Given the description of an element on the screen output the (x, y) to click on. 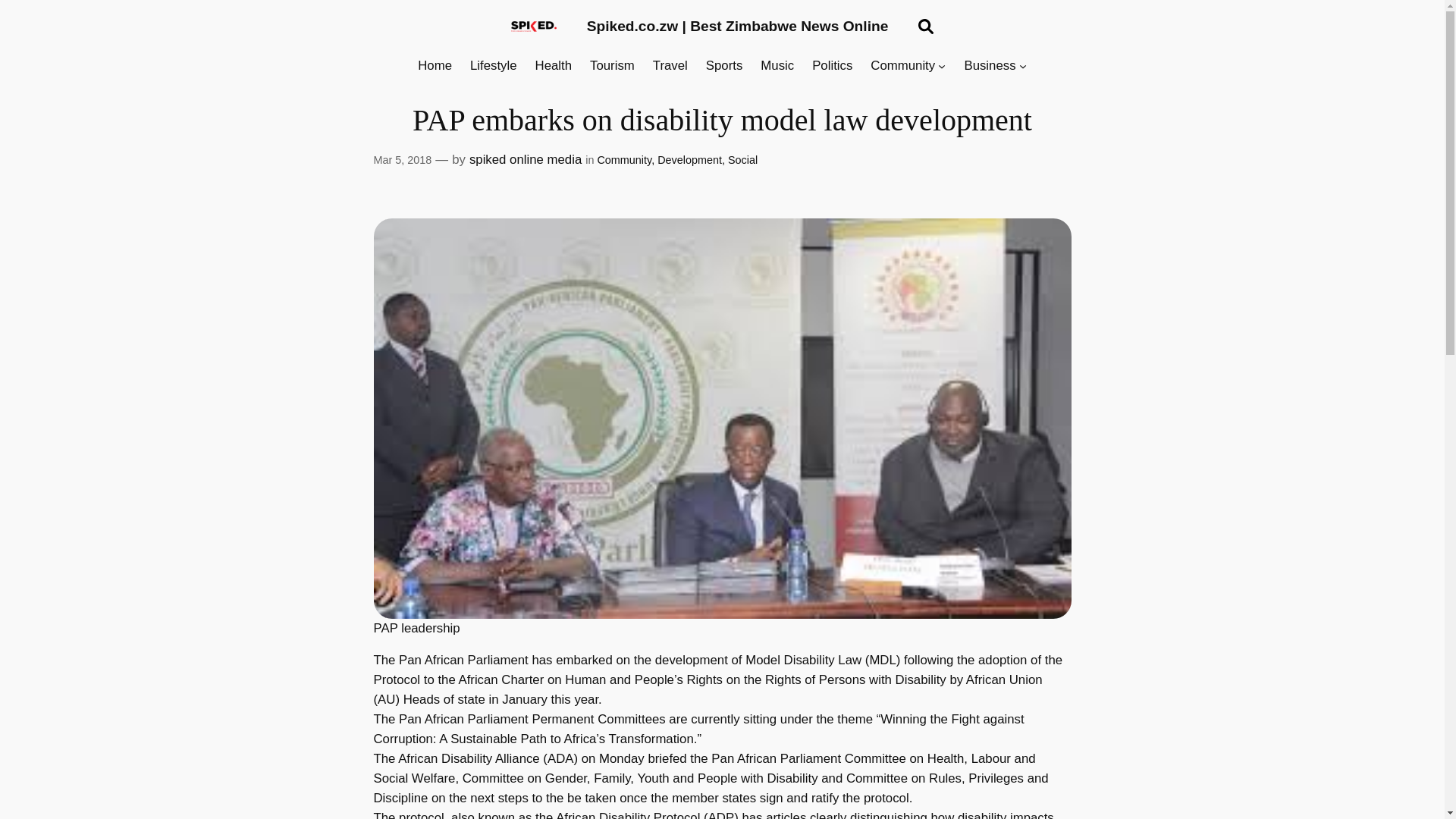
Travel (669, 66)
Music (776, 66)
Health (553, 66)
Community (623, 159)
Mar 5, 2018 (401, 159)
Social (742, 159)
Sports (724, 66)
Home (434, 66)
Tourism (611, 66)
Development (690, 159)
Business (988, 66)
Politics (831, 66)
Lifestyle (493, 66)
Community (902, 66)
